Given the description of an element on the screen output the (x, y) to click on. 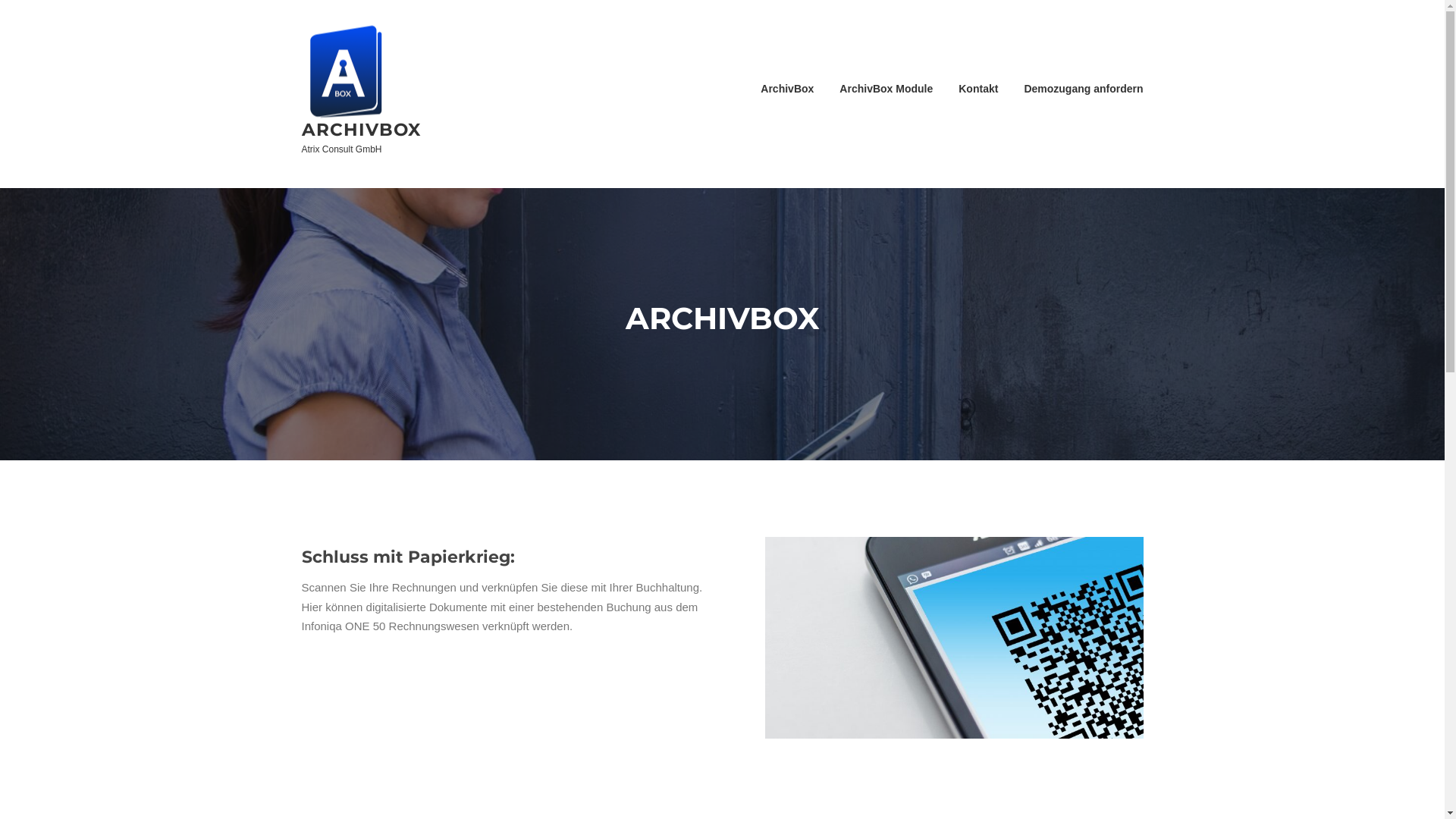
Kontakt Element type: text (977, 88)
ArchivBox Module Element type: text (885, 88)
ArchivBox Element type: text (786, 88)
Demozugang anfordern Element type: text (1076, 88)
ARCHIVBOX Element type: text (360, 128)
